Given the description of an element on the screen output the (x, y) to click on. 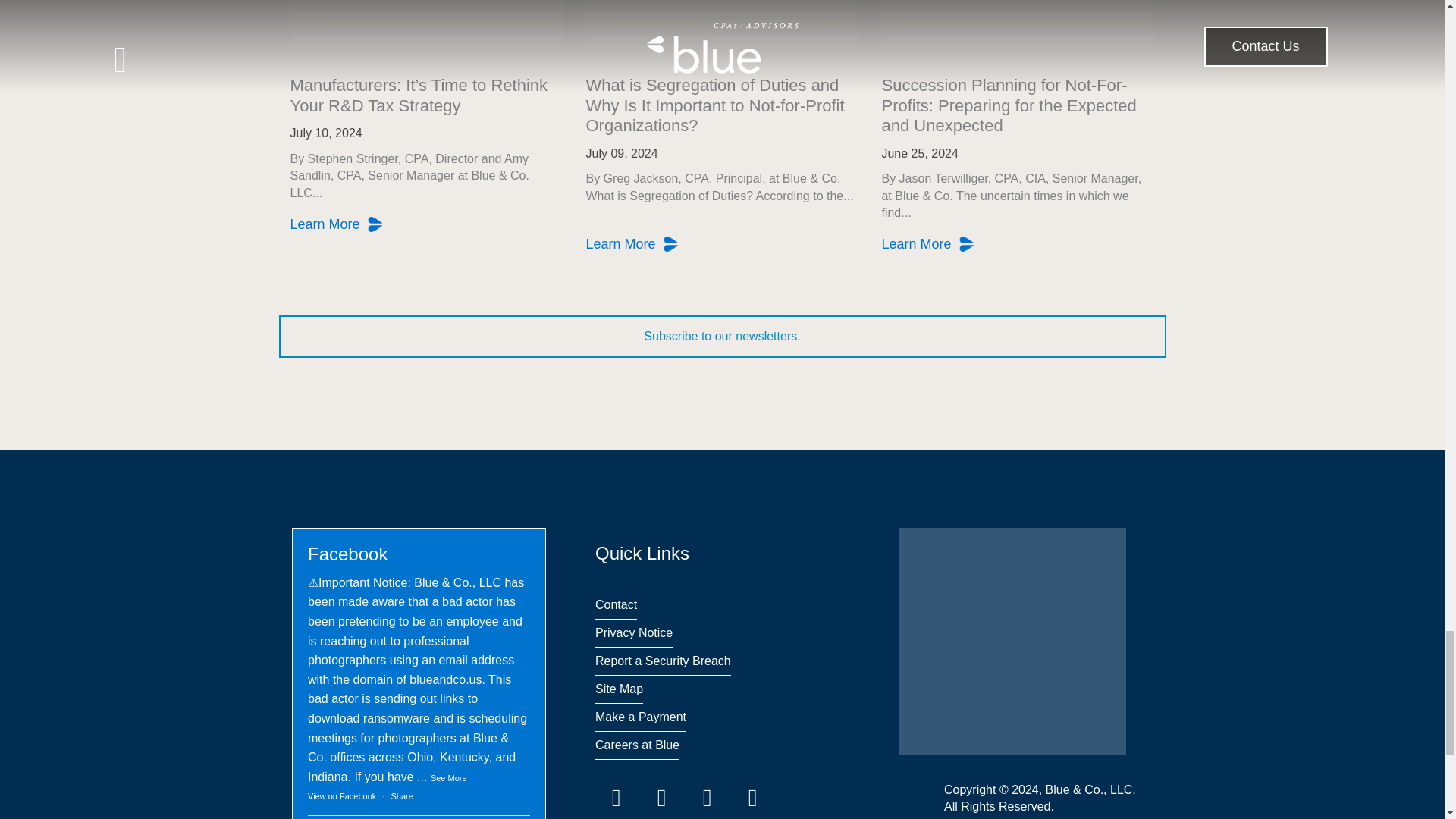
View on Facebook (341, 795)
Share (402, 795)
